Given the description of an element on the screen output the (x, y) to click on. 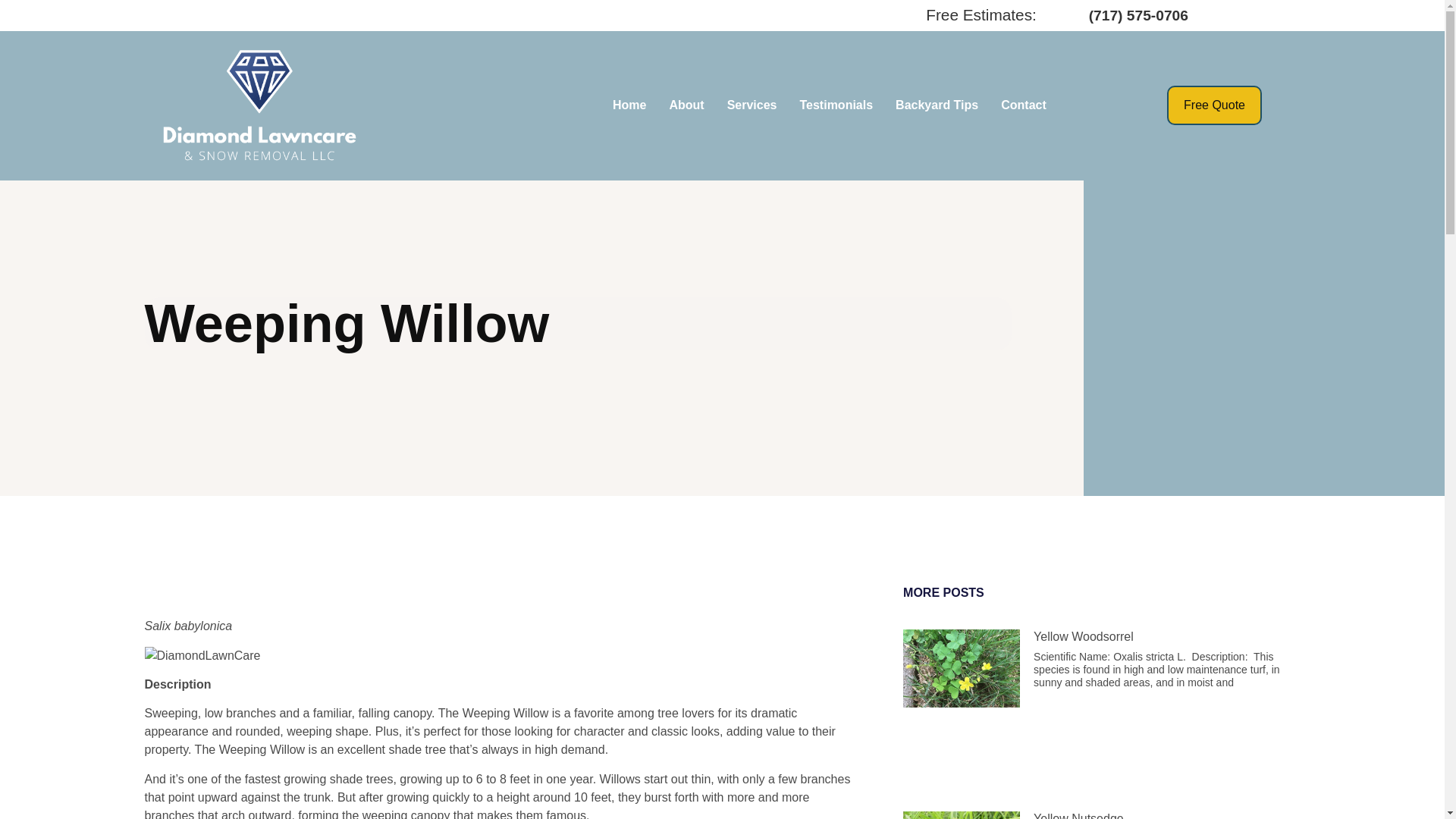
Yellow Woodsorrel (1083, 635)
Yellow Nutsedge (1078, 815)
Contact (1023, 105)
Free Quote (1214, 105)
Weeping Willow 1 (202, 656)
Home (629, 105)
Backyard Tips (936, 105)
About (685, 105)
Services (751, 105)
Testimonials (835, 105)
